Given the description of an element on the screen output the (x, y) to click on. 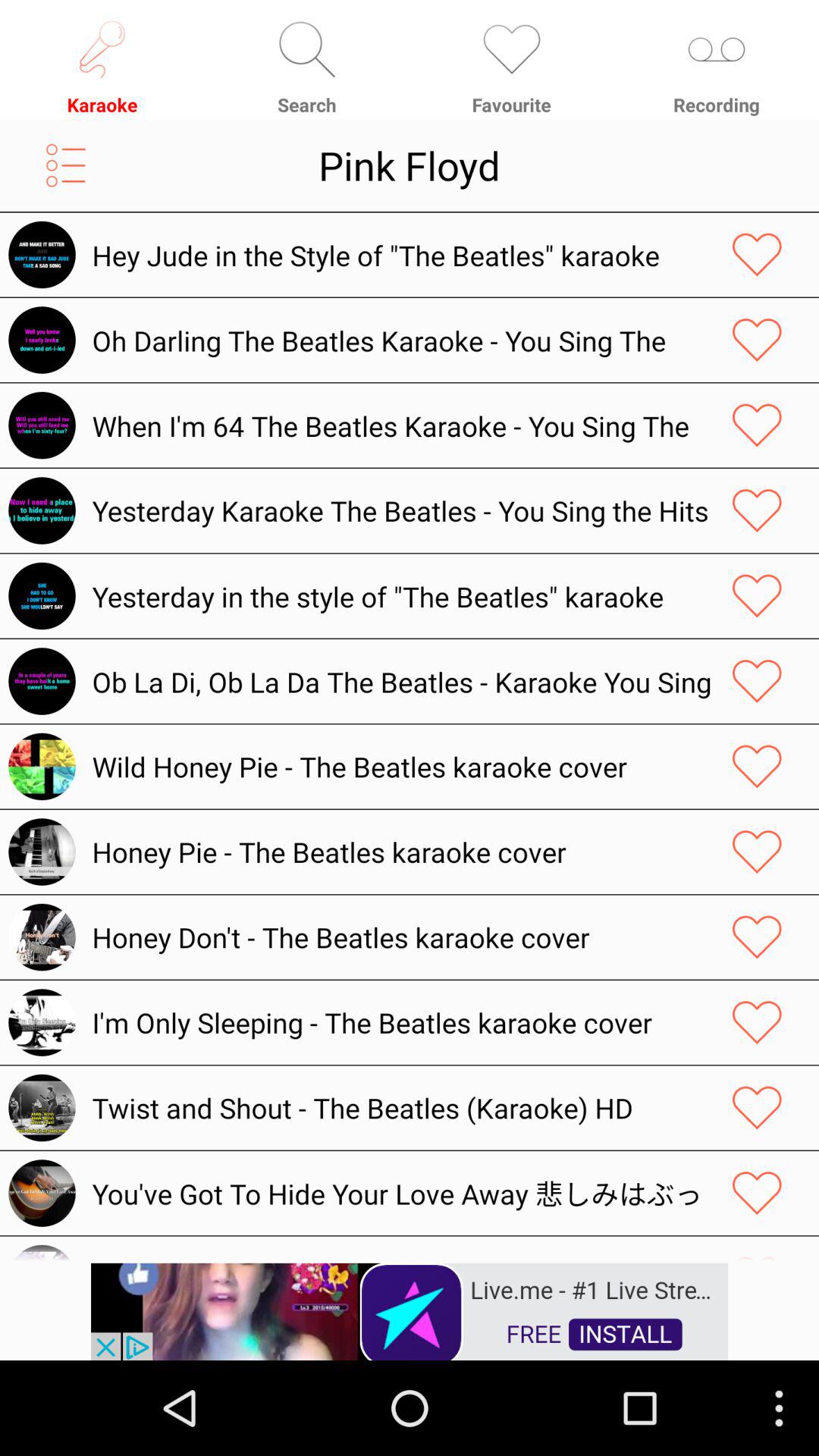
like song (756, 1107)
